Given the description of an element on the screen output the (x, y) to click on. 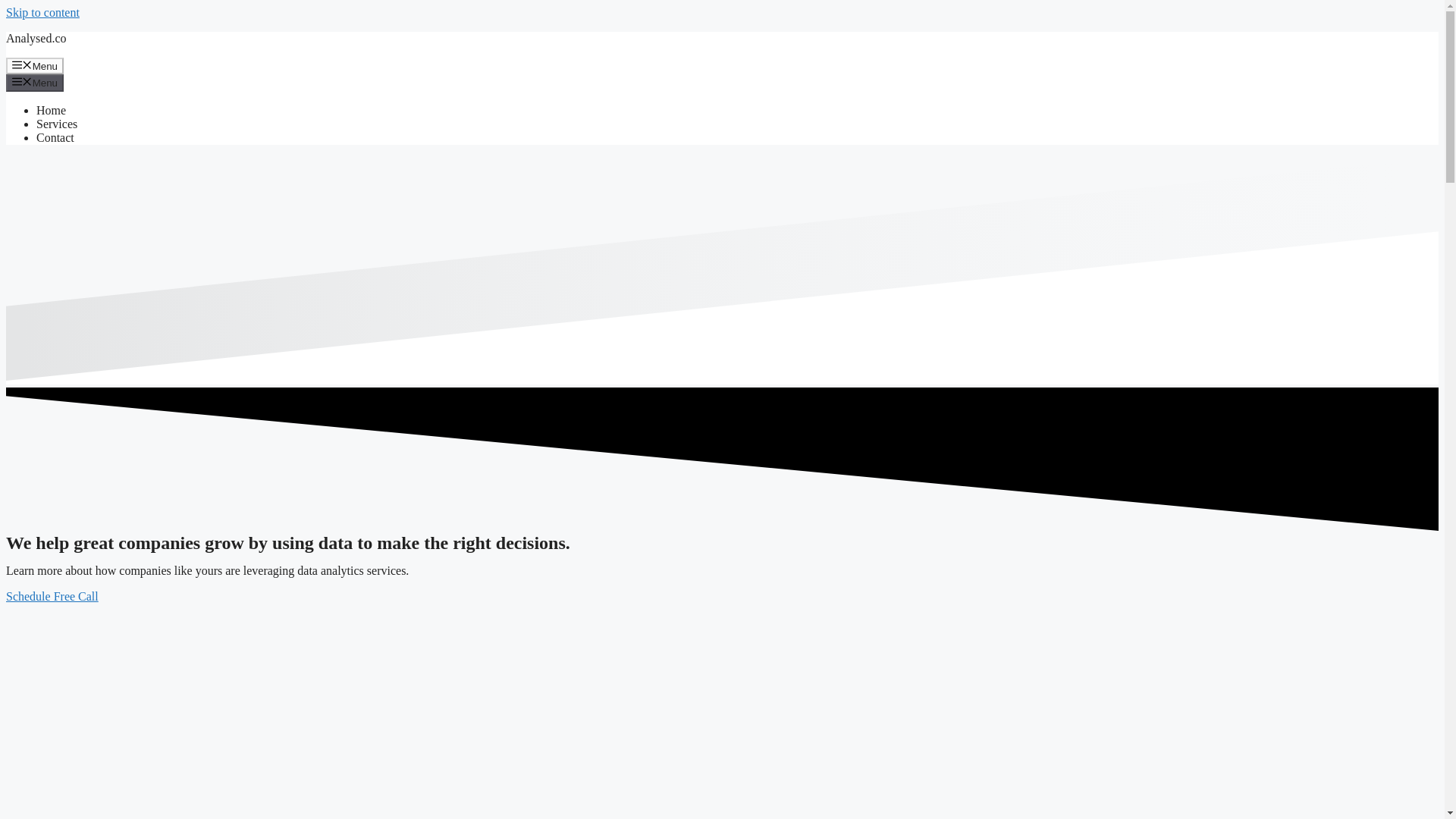
Skip to content (42, 11)
Contact (55, 137)
Menu (34, 65)
Home (50, 110)
Analysed.co (35, 38)
Skip to content (42, 11)
Schedule Free Call (52, 595)
Services (56, 123)
Menu (34, 82)
